Given the description of an element on the screen output the (x, y) to click on. 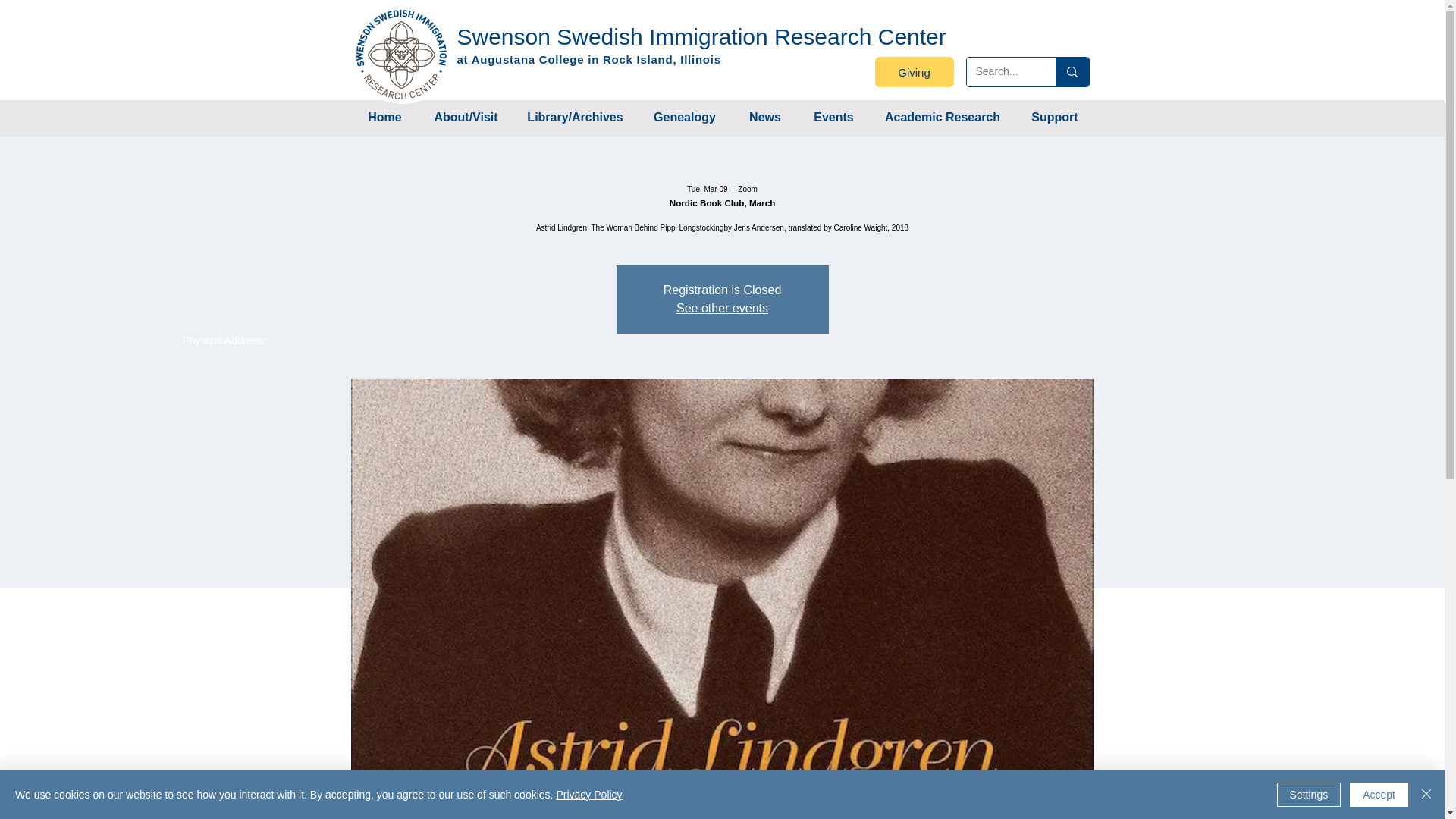
News (764, 116)
Home (384, 116)
Events (833, 116)
LogoVariable3.png (401, 54)
Genealogy (684, 116)
